Given the description of an element on the screen output the (x, y) to click on. 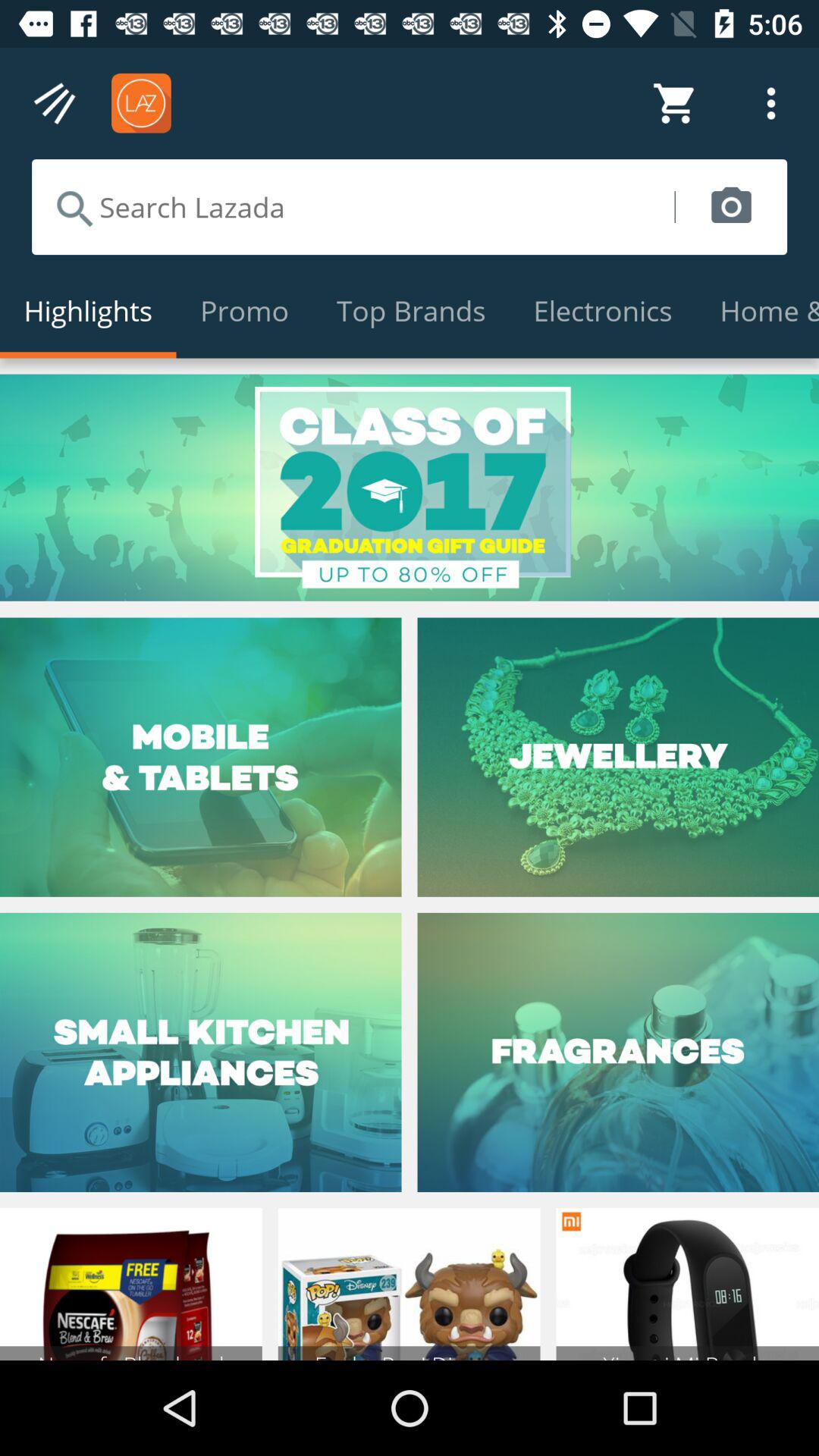
select promotion (409, 487)
